Given the description of an element on the screen output the (x, y) to click on. 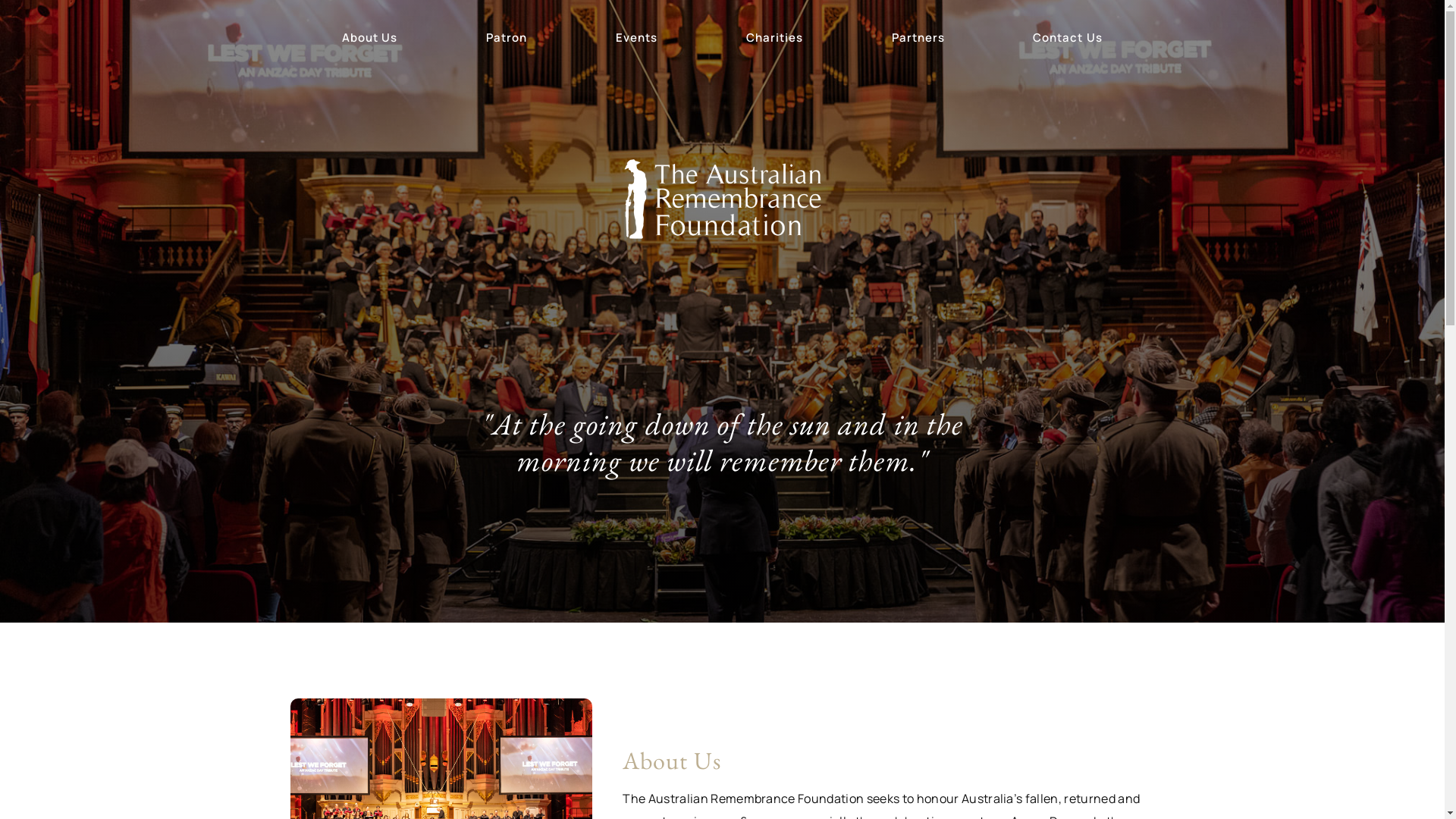
Partners Element type: text (917, 37)
About Us Element type: text (369, 37)
Contact Us Element type: text (1067, 37)
Events Element type: text (636, 37)
Charities Element type: text (774, 37)
Patron Element type: text (506, 37)
